Given the description of an element on the screen output the (x, y) to click on. 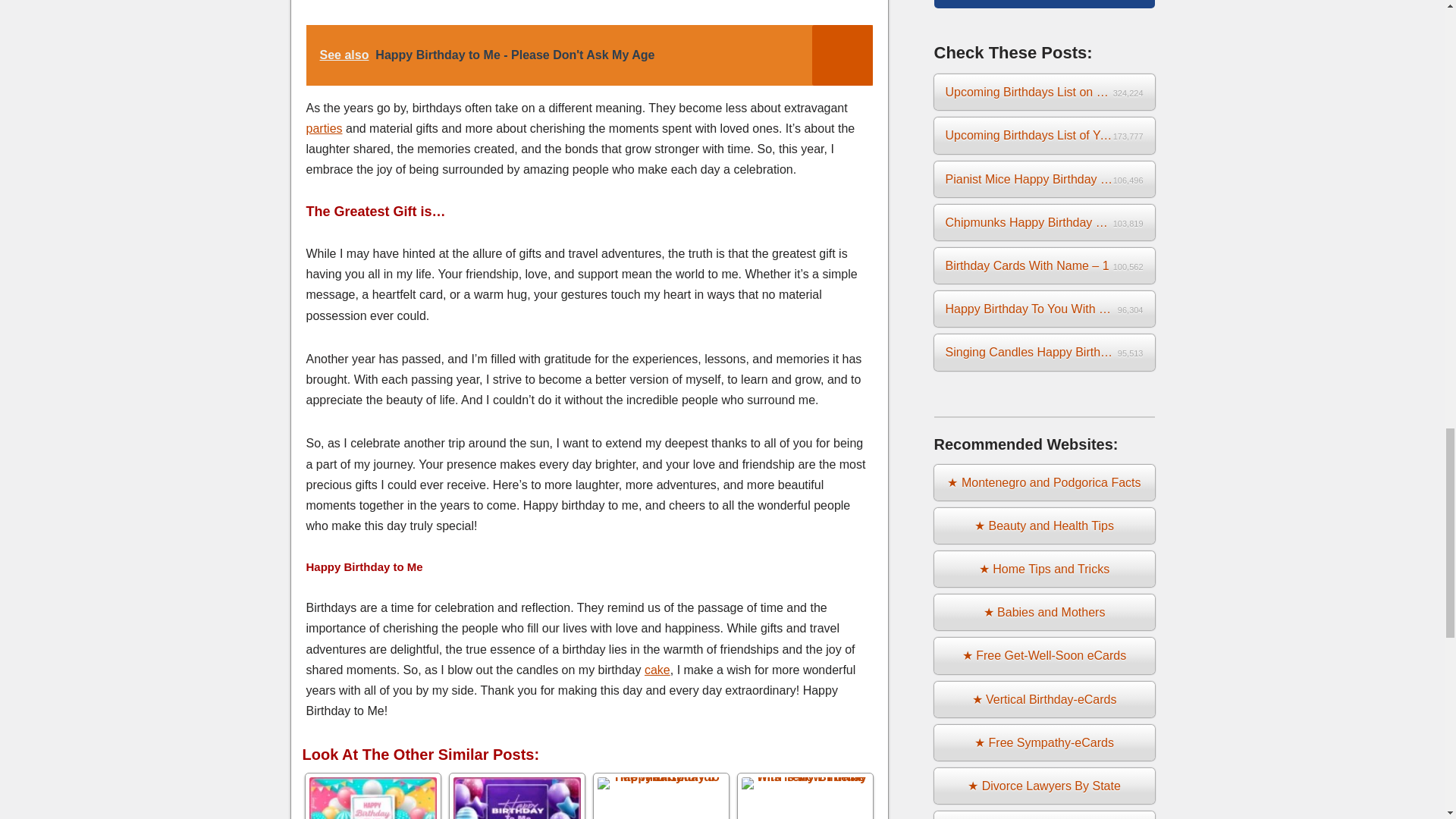
parties (323, 128)
See also  Happy Birthday to Me - Please Don't Ask My Age (588, 55)
This is My Birthday with Yellow Party Theme (805, 796)
Birthday Cakes (657, 669)
Happy Birthday to Me with Purple Balloons (517, 796)
Happy Birthday to Me with Pastel Colors (373, 796)
Happy Birthday to Me with Purple Balloons (517, 796)
This is My Birthday with Yellow Party Theme (805, 796)
Happy Birthday to Me with Colorful Party Theme (661, 796)
Happy Birthday to Me with Colorful Party Theme (661, 796)
